Given the description of an element on the screen output the (x, y) to click on. 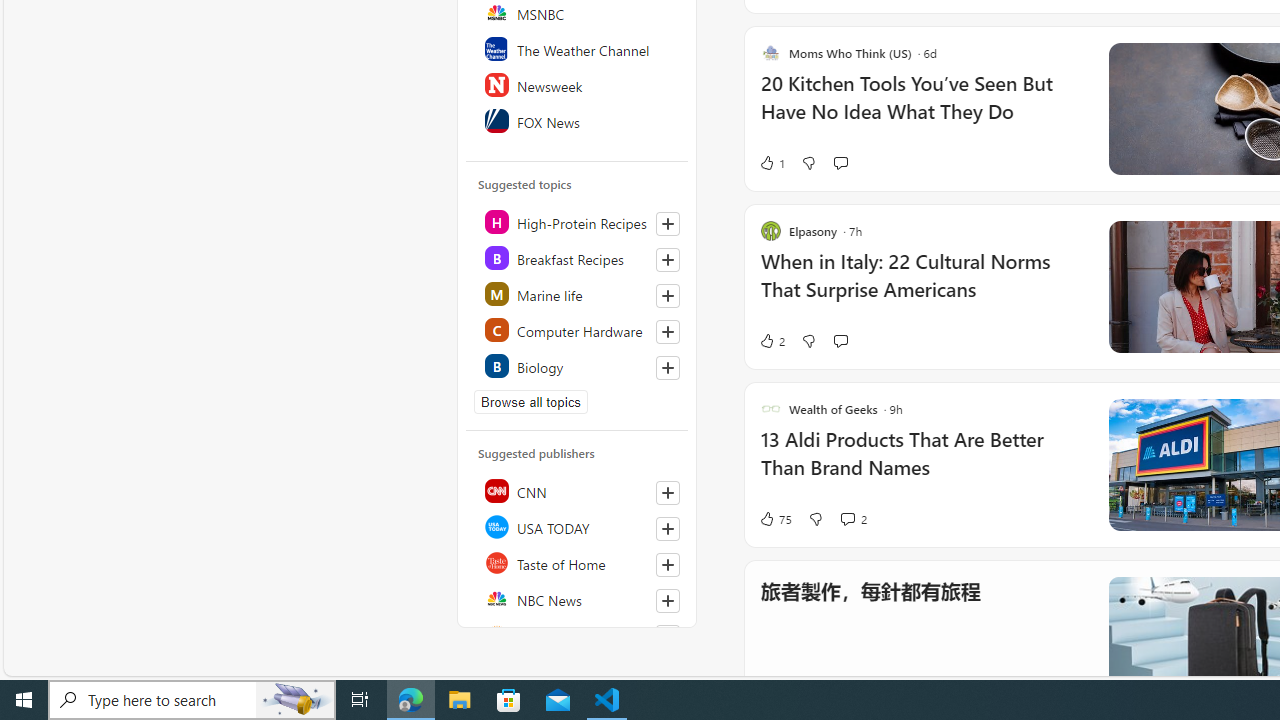
FOX News (578, 120)
Taste of Home (578, 562)
Browse all topics (530, 401)
Follow this source (667, 600)
NBC News (578, 598)
Class: highlight (578, 365)
Follow this source (667, 636)
Follow this topic (667, 367)
13 Aldi Products That Are Better Than Brand Names (922, 463)
Start the conversation (840, 340)
View comments 2 Comment (852, 518)
1 Like (771, 162)
75 Like (775, 518)
